Given the description of an element on the screen output the (x, y) to click on. 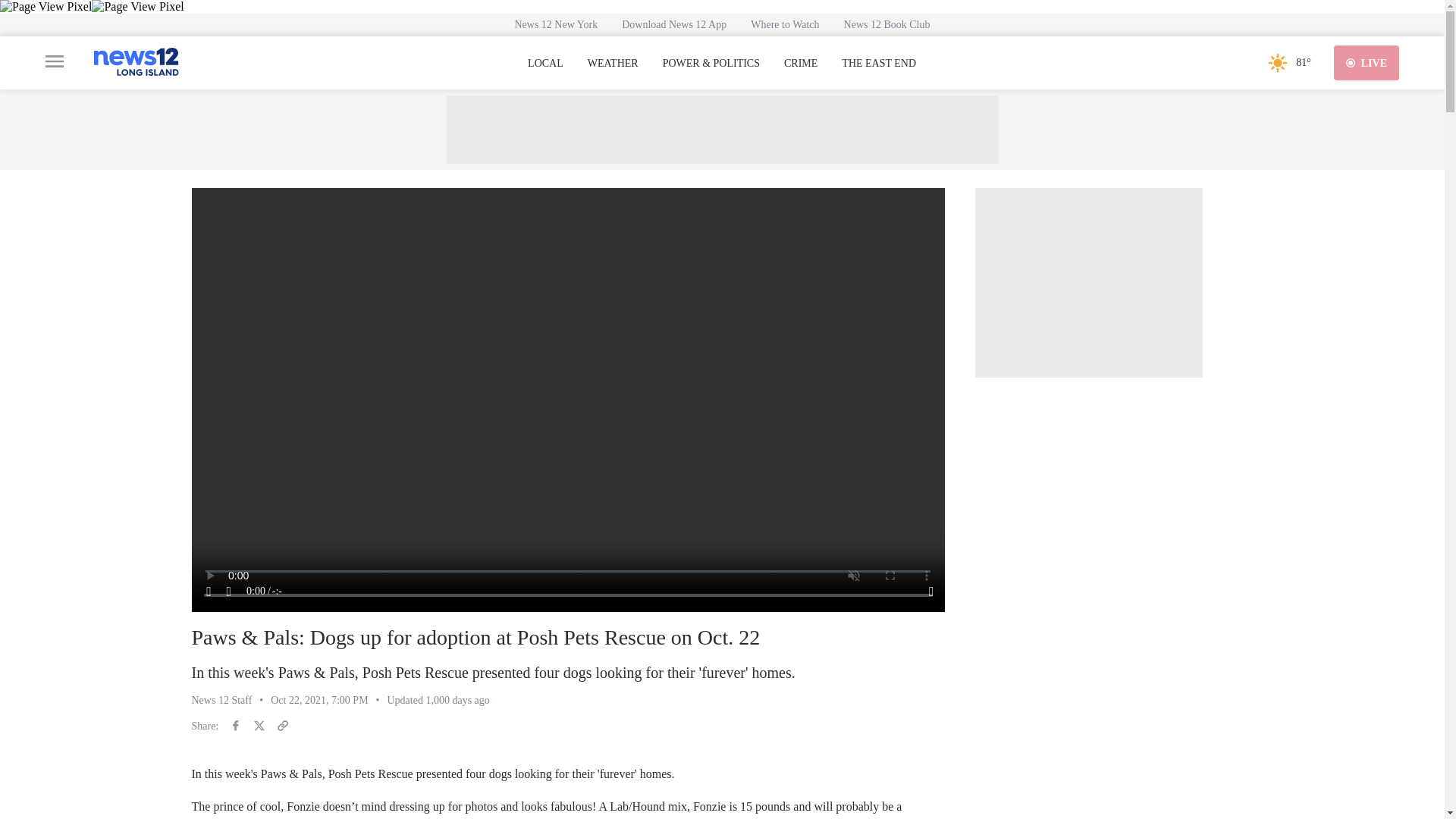
Unmute (229, 591)
Download News 12 App (673, 24)
Play (208, 591)
News 12 Book Club (886, 24)
THE EAST END (878, 63)
Fullscreen (931, 591)
CRIME (800, 63)
Where to Watch (784, 24)
LOCAL (545, 63)
News 12 New York (556, 24)
Sunny (1277, 62)
LIVE (1366, 62)
WEATHER (613, 63)
